Given the description of an element on the screen output the (x, y) to click on. 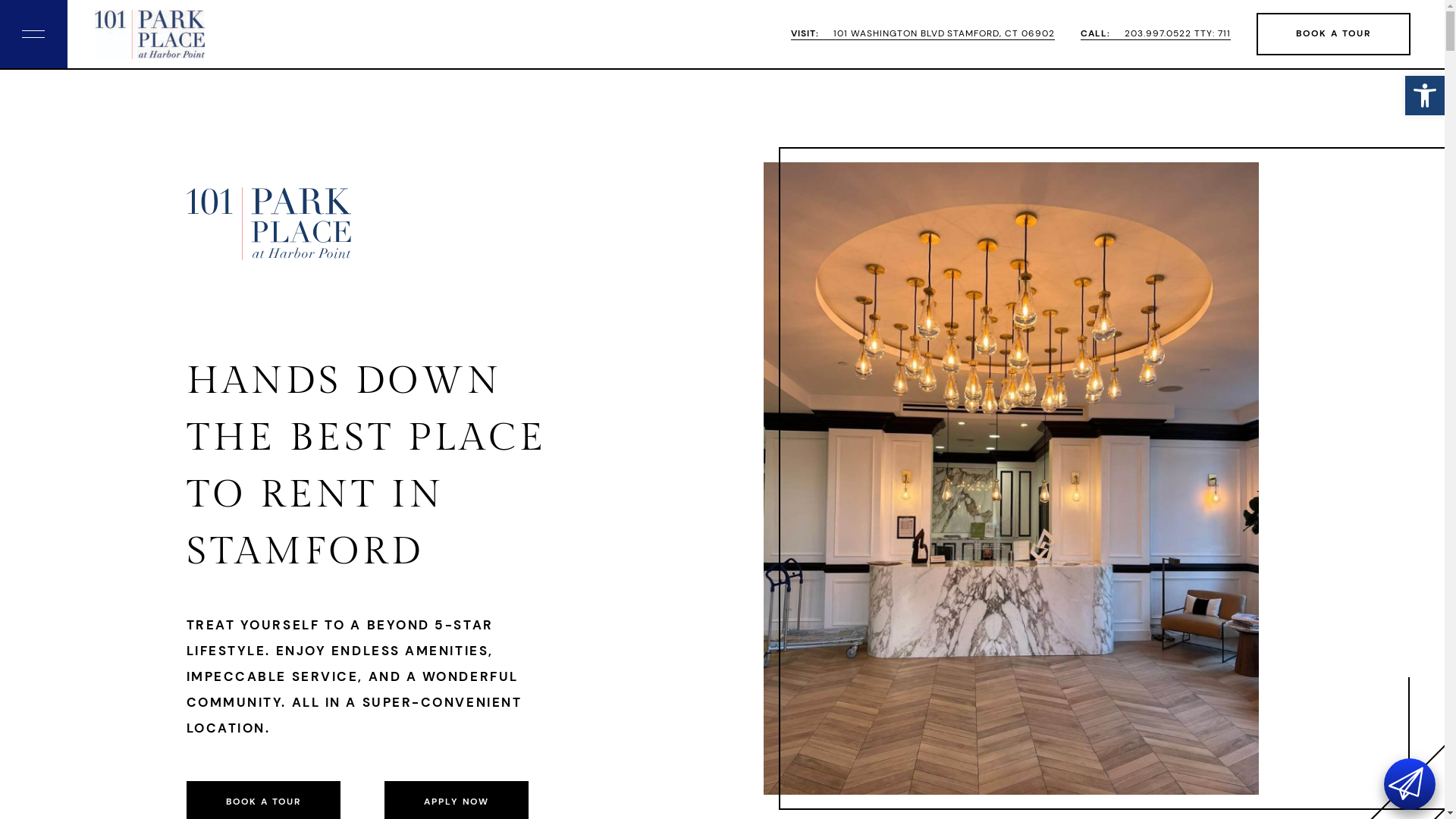
BOOK A TOUR Element type: text (1333, 33)
CALL:     203.997.0522 TTY: 711 Element type: text (1155, 34)
Skip to primary navigation Element type: text (0, 0)
Open toolbar
Accessibility Tools Element type: text (1424, 95)
VISIT:     101 WASHINGTON BLVD STAMFORD, CT 06902 Element type: text (922, 34)
